Given the description of an element on the screen output the (x, y) to click on. 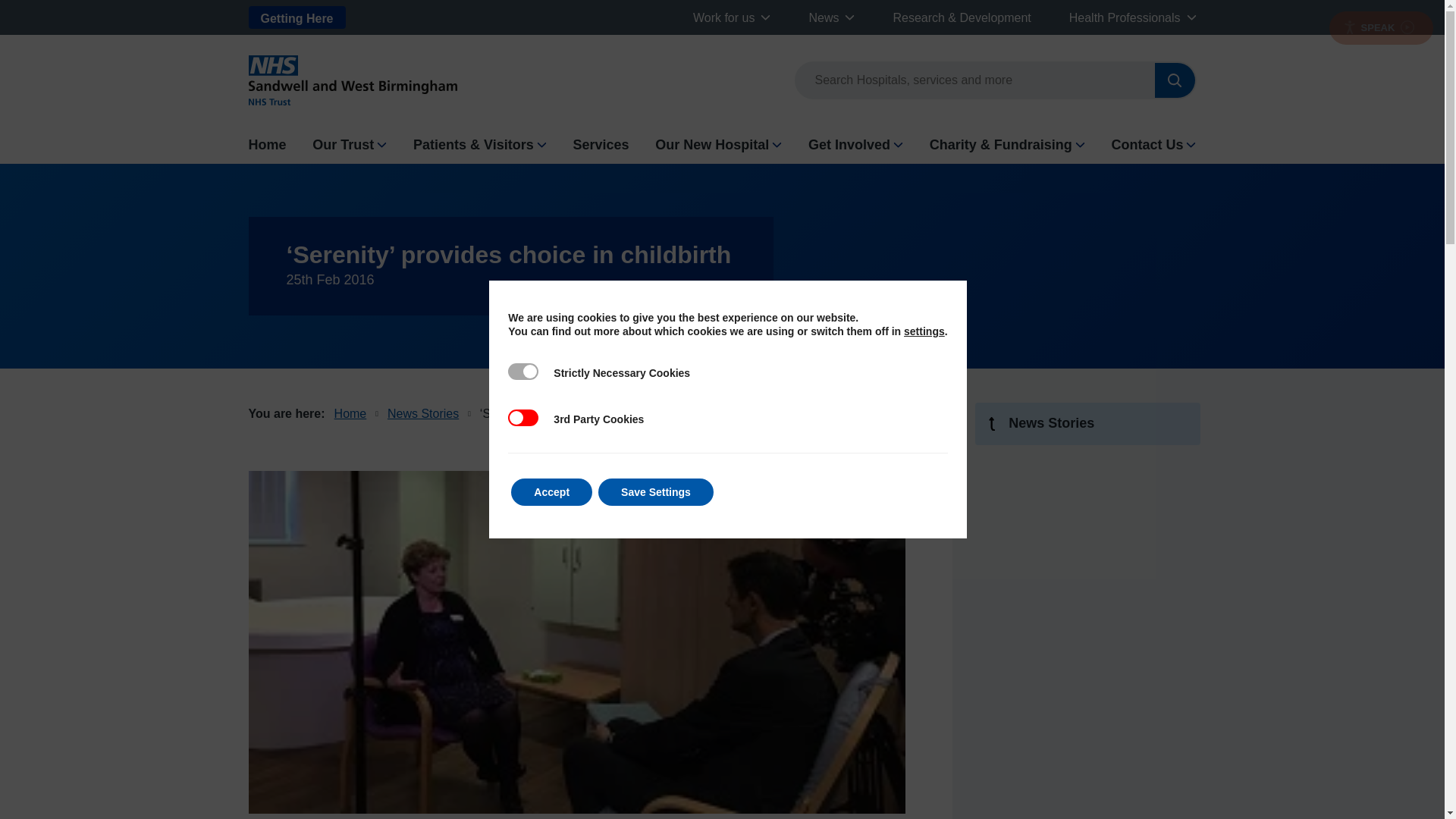
Save Settings (655, 492)
SPEAK (1380, 28)
Home (267, 144)
Work for us (724, 17)
Listen with the ReachDeck Toolbar (1380, 28)
Getting Here (297, 16)
Our Trust (343, 144)
Health Professionals (1124, 17)
